Given the description of an element on the screen output the (x, y) to click on. 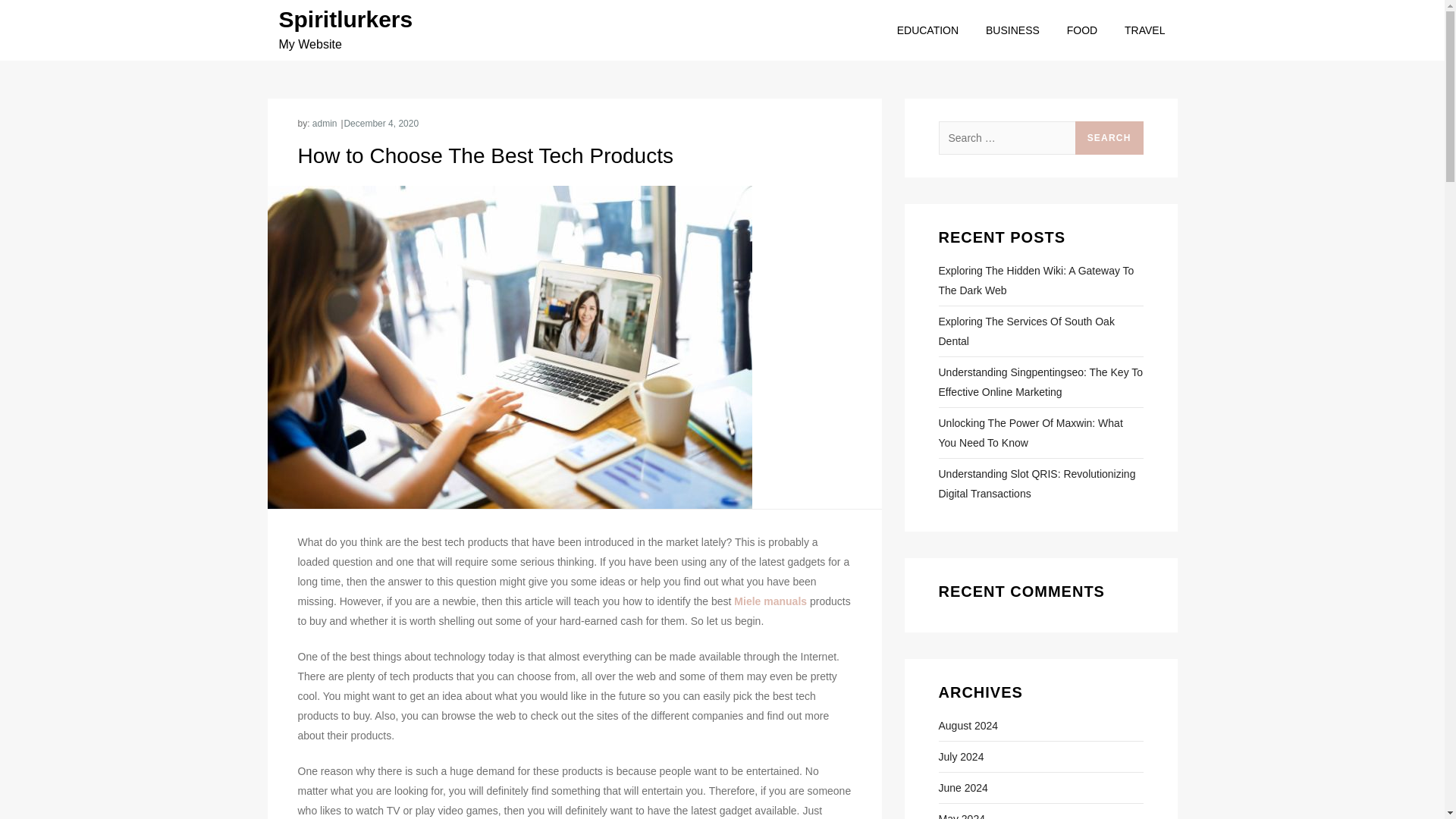
June 2024 (963, 787)
Unlocking The Power Of Maxwin: What You Need To Know (1040, 432)
Search (1108, 137)
August 2024 (968, 725)
December 4, 2020 (381, 122)
Exploring The Services Of South Oak Dental (1040, 331)
FOOD (1081, 30)
EDUCATION (928, 30)
Exploring The Hidden Wiki: A Gateway To The Dark Web (1040, 280)
May 2024 (962, 814)
